Given the description of an element on the screen output the (x, y) to click on. 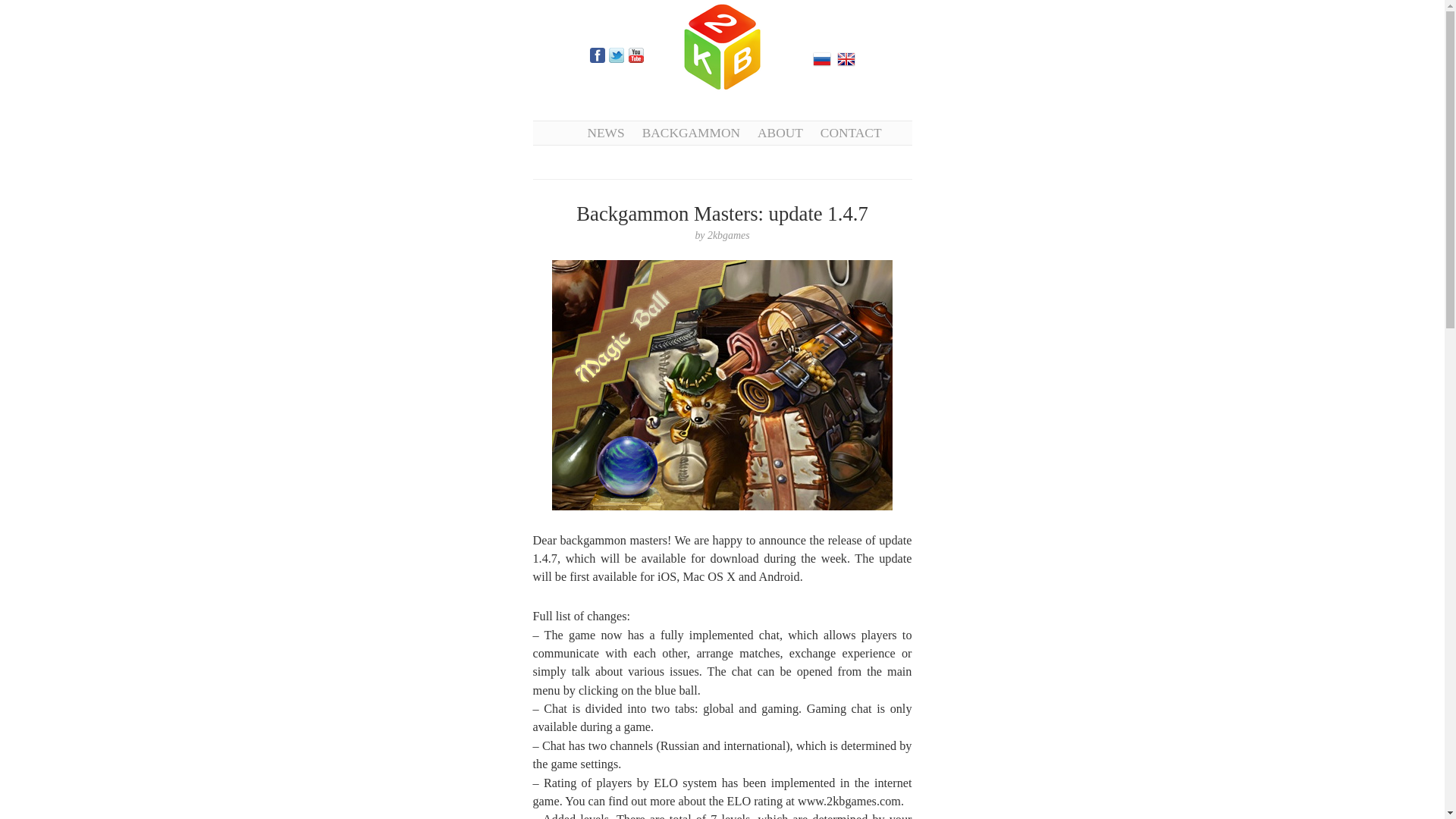
Chat (721, 385)
Twitter (616, 55)
ABOUT (780, 132)
NEWS (605, 132)
English (846, 58)
Russian (821, 58)
BACKGAMMON (690, 132)
Youtube (635, 55)
CONTACT (851, 132)
Facebook (597, 55)
